Given the description of an element on the screen output the (x, y) to click on. 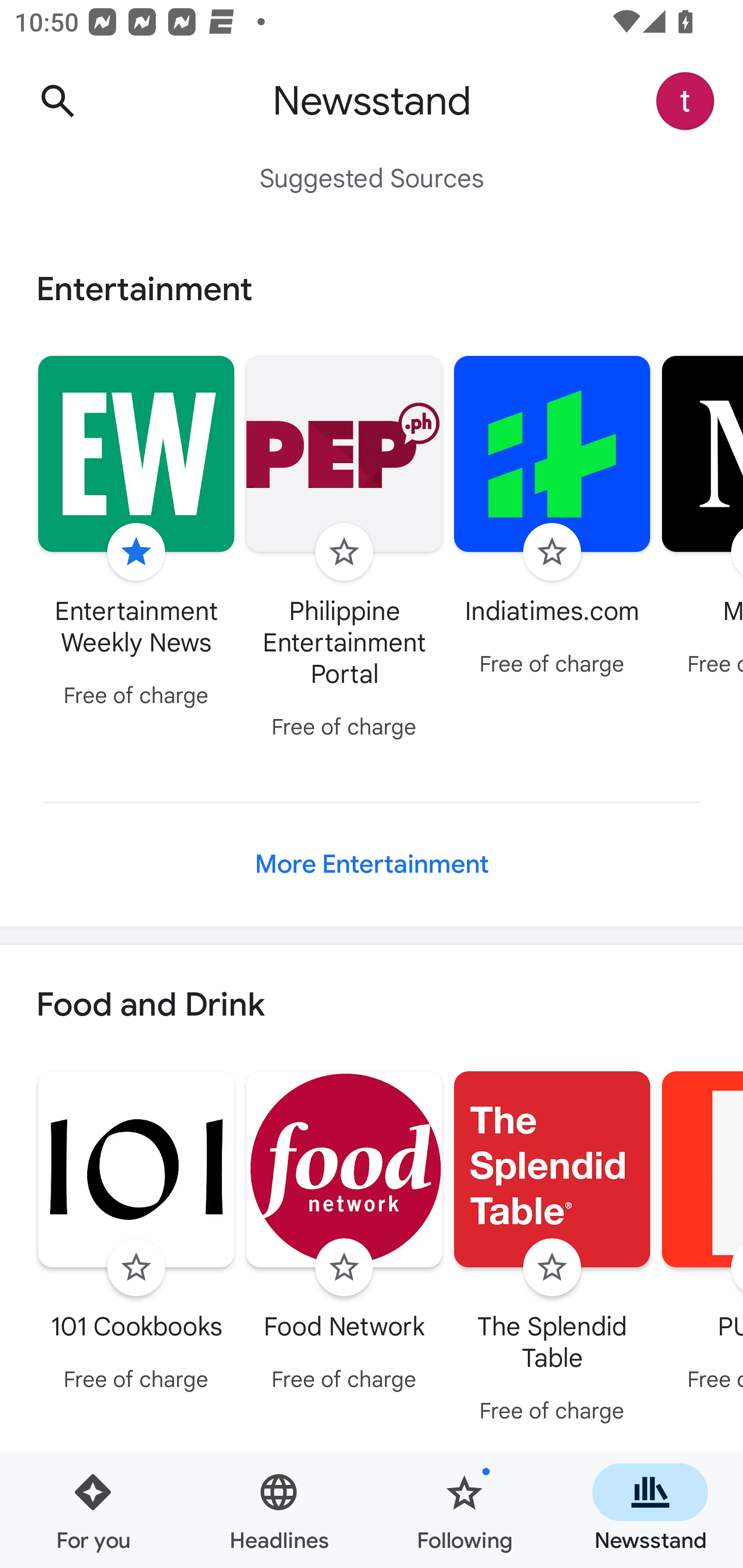
Search (57, 100)
Entertainment (371, 288)
Unfollow Entertainment Weekly News Free of charge (136, 534)
Follow Indiatimes.com Free of charge (552, 517)
Unfollow (135, 551)
Follow (343, 551)
Follow (552, 551)
More Entertainment (371, 864)
Food and Drink (371, 1005)
Follow 101 Cookbooks Free of charge (136, 1234)
Follow Food Network Free of charge (344, 1234)
Follow The Splendid Table Free of charge (552, 1250)
Follow (135, 1267)
Follow (343, 1267)
Follow (552, 1267)
For you (92, 1509)
Headlines (278, 1509)
Following (464, 1509)
Newsstand (650, 1509)
